Given the description of an element on the screen output the (x, y) to click on. 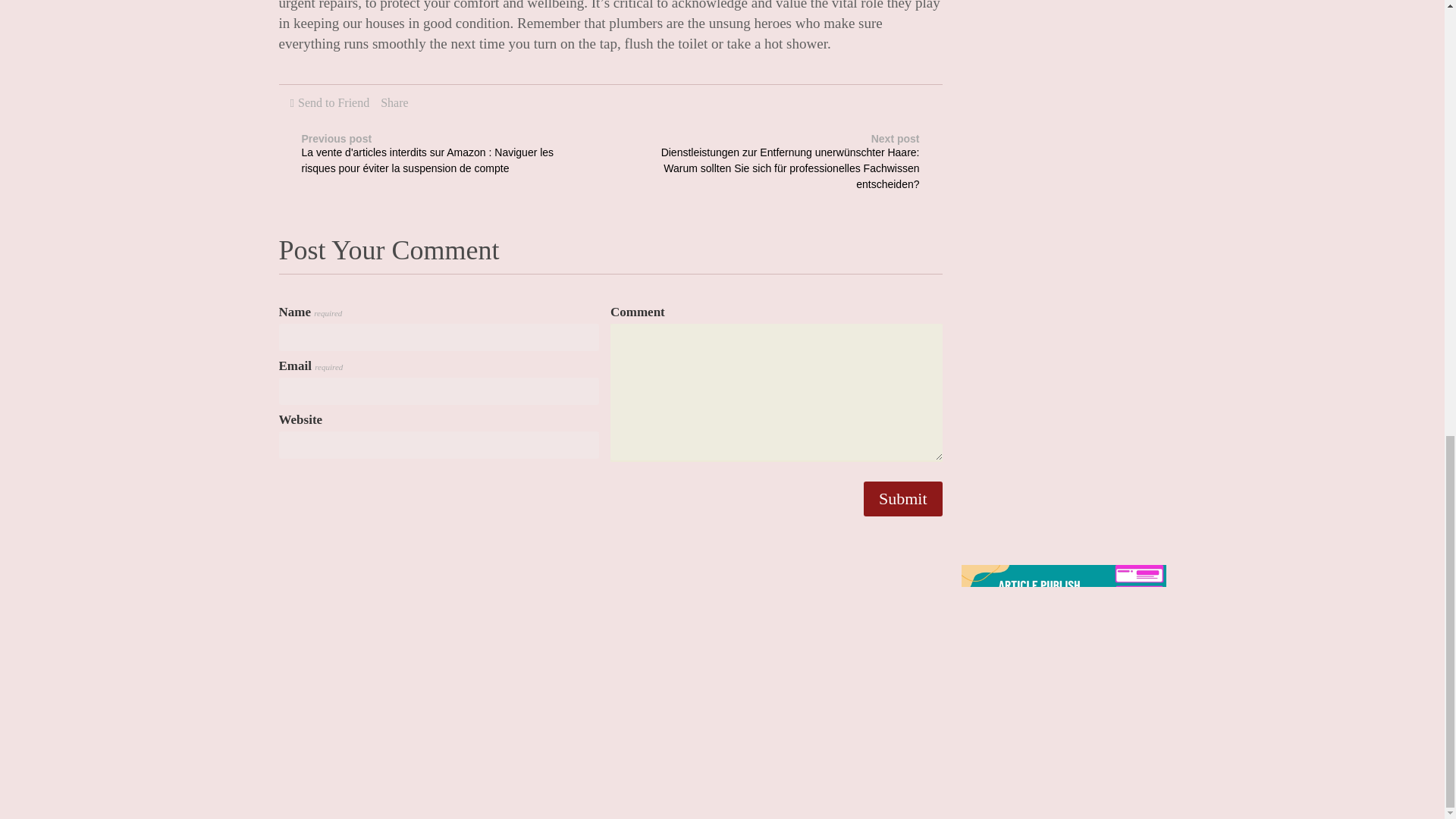
Submit (902, 498)
Send to Friend (333, 102)
Submit (902, 498)
Share (393, 102)
